Given the description of an element on the screen output the (x, y) to click on. 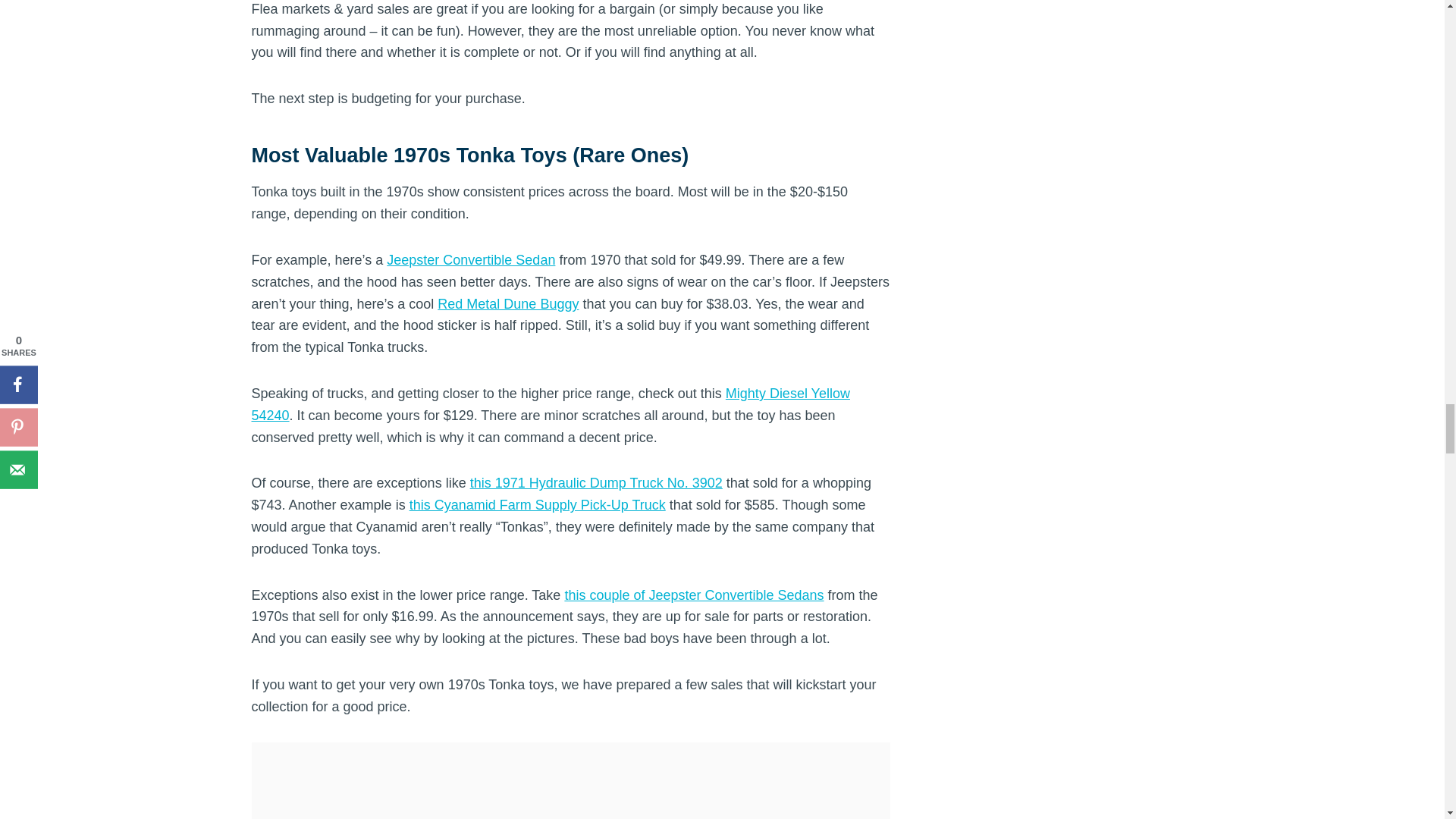
this 1971 Hydraulic Dump Truck No. 3902 (596, 482)
this Cyanamid Farm Supply Pick-Up Truck (537, 504)
Jeepster Convertible Sedan (470, 259)
this couple of Jeepster Convertible Sedans (694, 595)
Red Metal Dune Buggy (508, 304)
Mighty Diesel Yellow 54240 (550, 404)
